Given the description of an element on the screen output the (x, y) to click on. 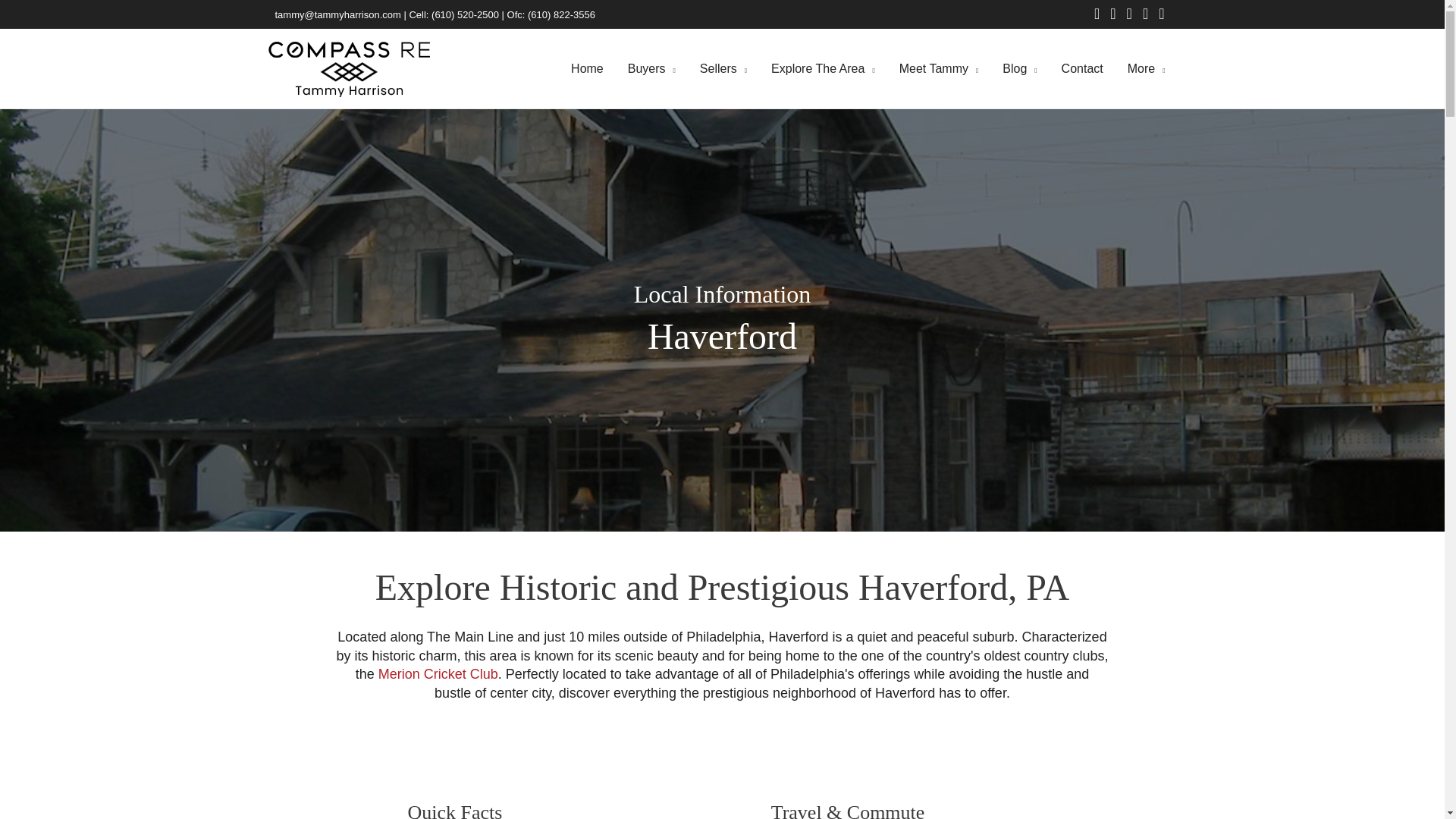
More (1146, 68)
Home (587, 68)
Explore The Area (822, 68)
Meet Tammy (938, 68)
Contact (1082, 68)
Blog (1019, 68)
Buyers (651, 68)
Sellers (722, 68)
